Given the description of an element on the screen output the (x, y) to click on. 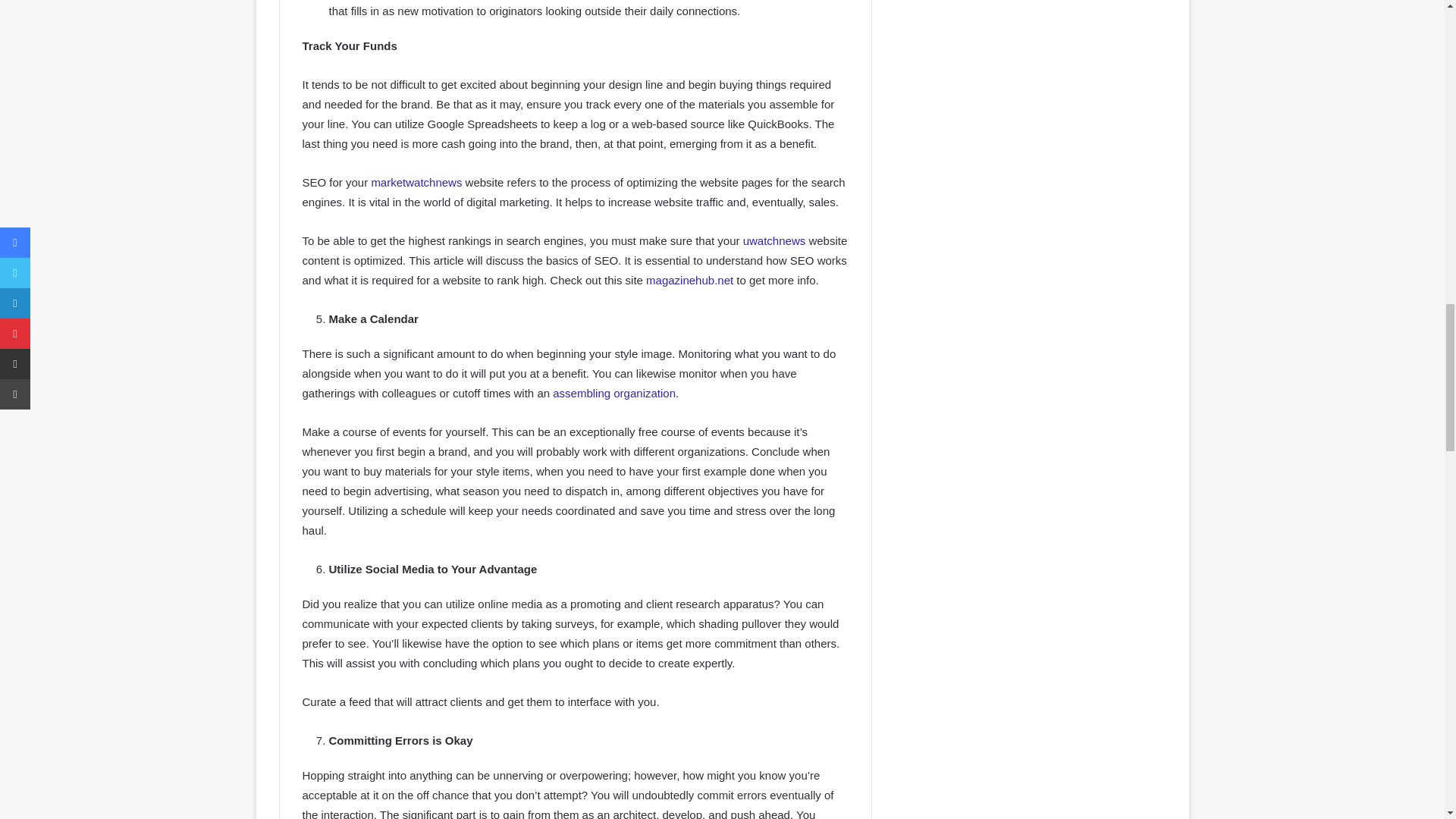
magazinehub.net (689, 279)
marketwatchnews (416, 182)
uwatchnews (774, 240)
assembling organization (614, 392)
